Given the description of an element on the screen output the (x, y) to click on. 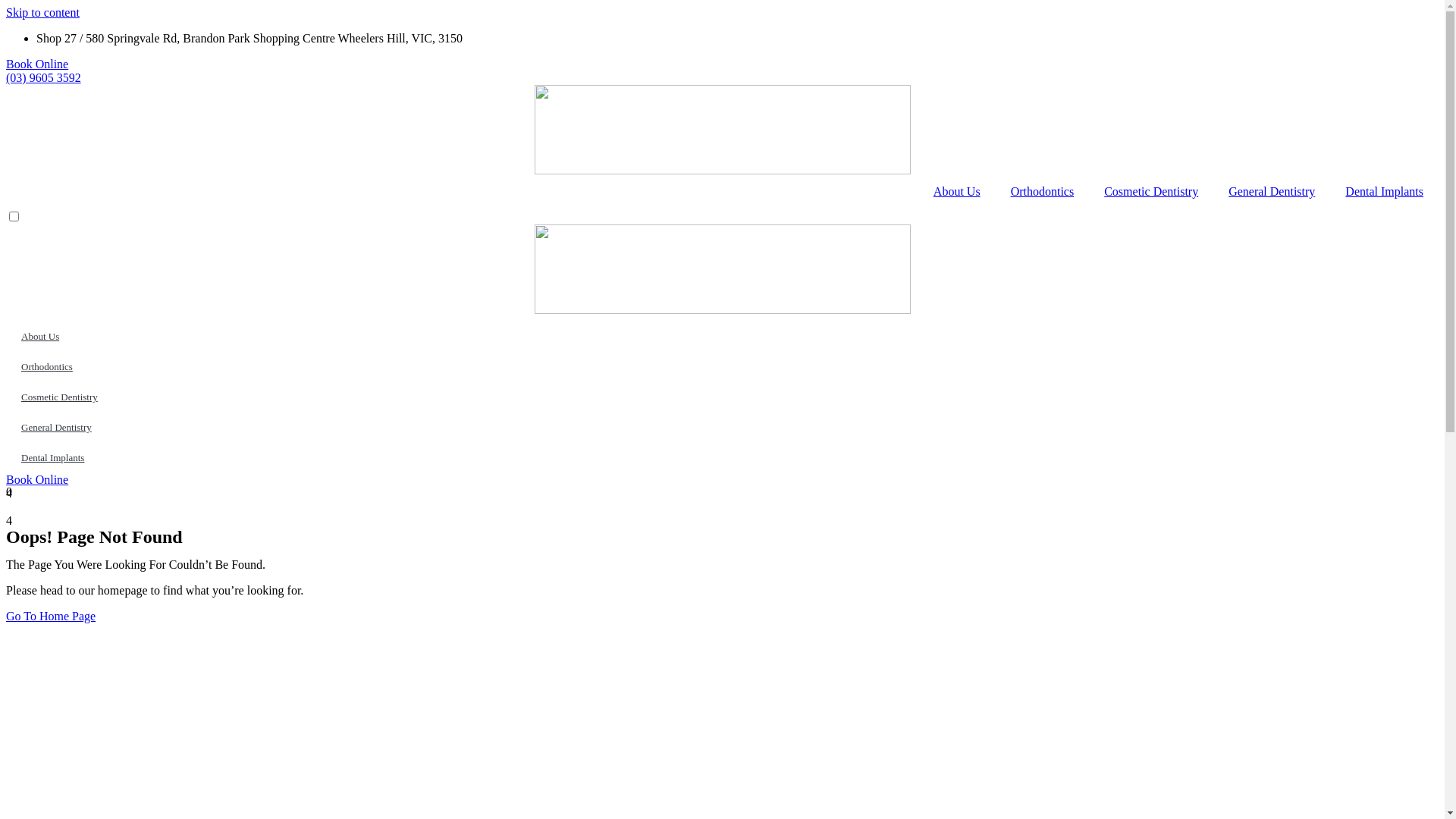
Dental Implants Element type: text (1384, 191)
About Us Element type: text (956, 191)
Skip to content Element type: text (42, 12)
Orthodontics Element type: text (722, 366)
General Dentistry Element type: text (1271, 191)
Book Online Element type: text (37, 63)
About Us Element type: text (722, 336)
General Dentistry Element type: text (722, 427)
Book Online Element type: text (37, 479)
Orthodontics Element type: text (1042, 191)
Cosmetic Dentistry Element type: text (1150, 191)
Cosmetic Dentistry Element type: text (722, 397)
(03) 9605 3592 Element type: text (43, 77)
Go To Home Page Element type: text (50, 615)
Dental Implants Element type: text (722, 457)
